Given the description of an element on the screen output the (x, y) to click on. 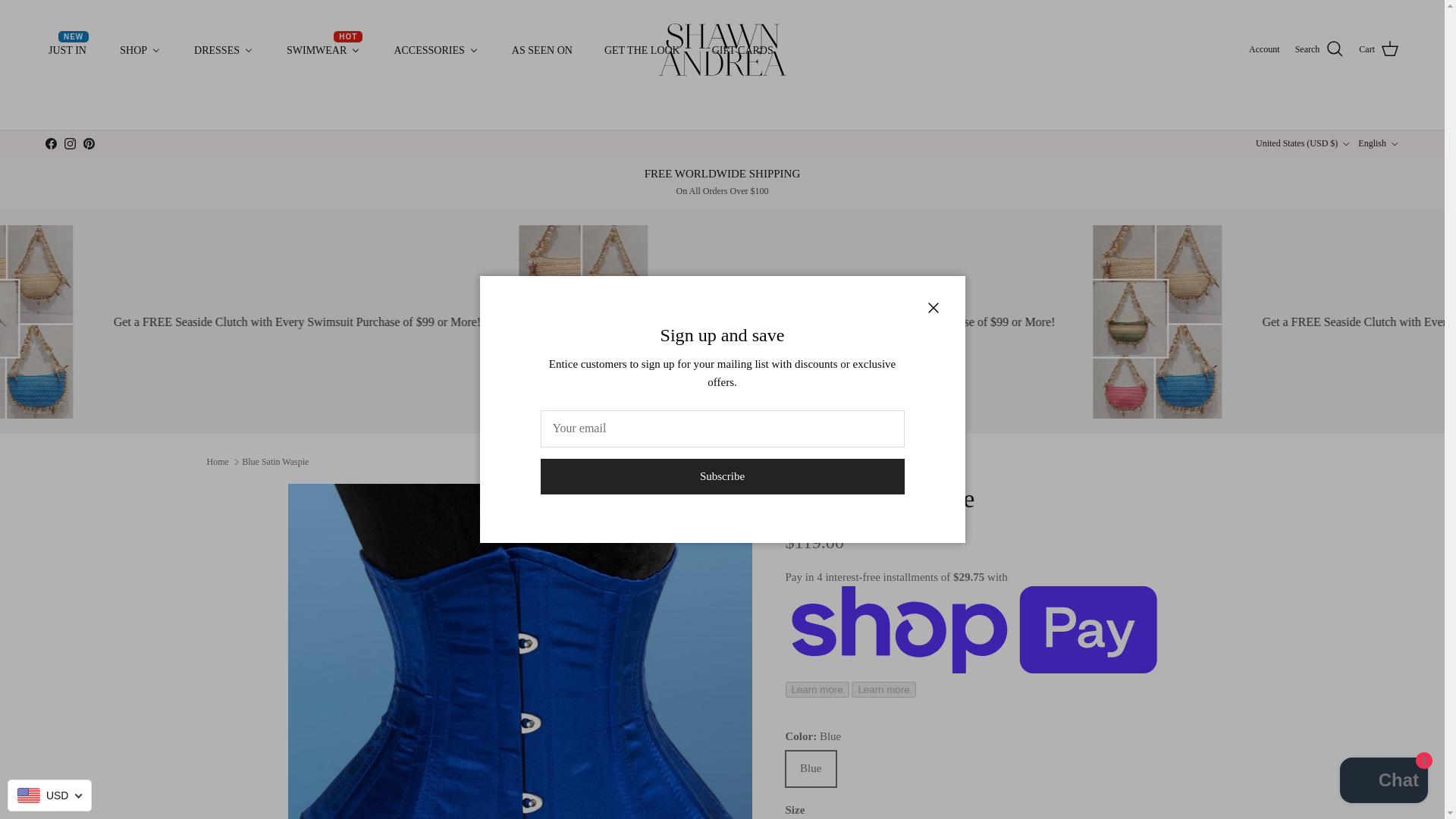
SHAWN ANDREA on Pinterest (88, 143)
SHOP (140, 50)
SHAWN ANDREA on Instagram (69, 143)
ACCESSORIES (436, 50)
JUST INNEW (67, 50)
DRESSES (223, 50)
SHAWN ANDREA on Facebook (50, 143)
SHAWN ANDREA (323, 50)
